Given the description of an element on the screen output the (x, y) to click on. 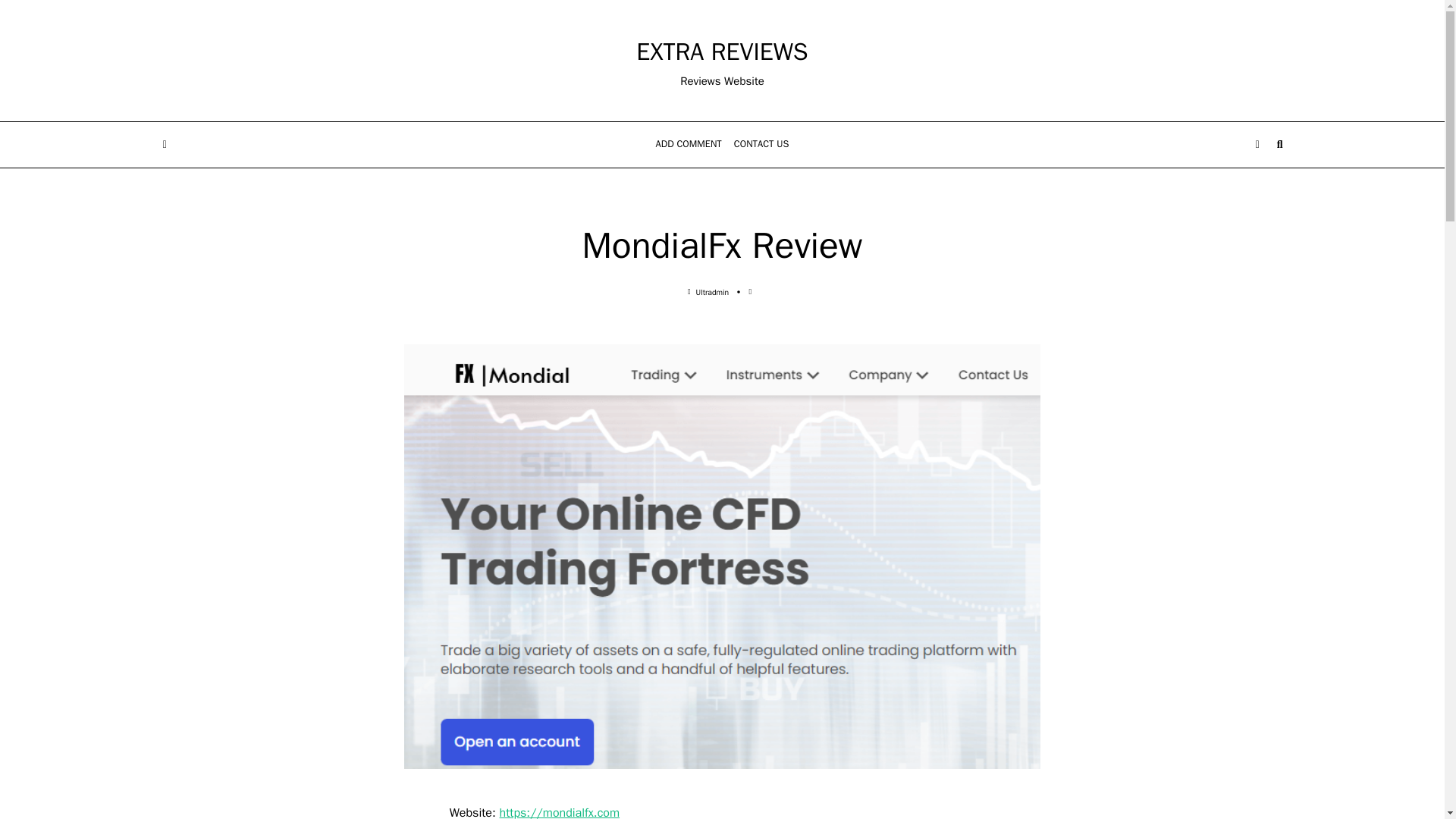
ADD COMMENT (688, 144)
CONTACT US (761, 144)
EXTRA REVIEWS (722, 51)
Ultradmin (712, 292)
